Given the description of an element on the screen output the (x, y) to click on. 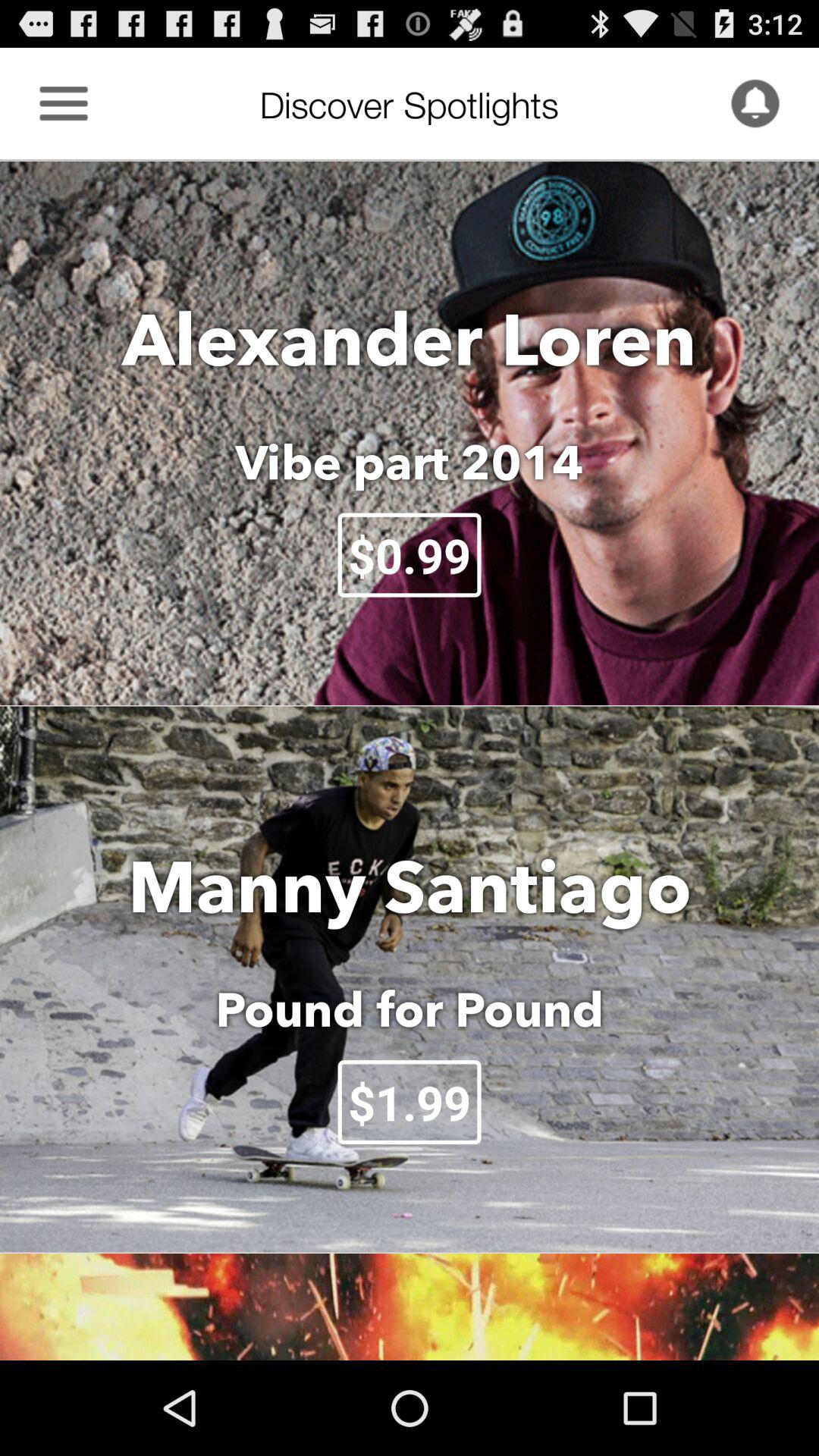
turn on the item to the left of discover spotlights icon (63, 103)
